Given the description of an element on the screen output the (x, y) to click on. 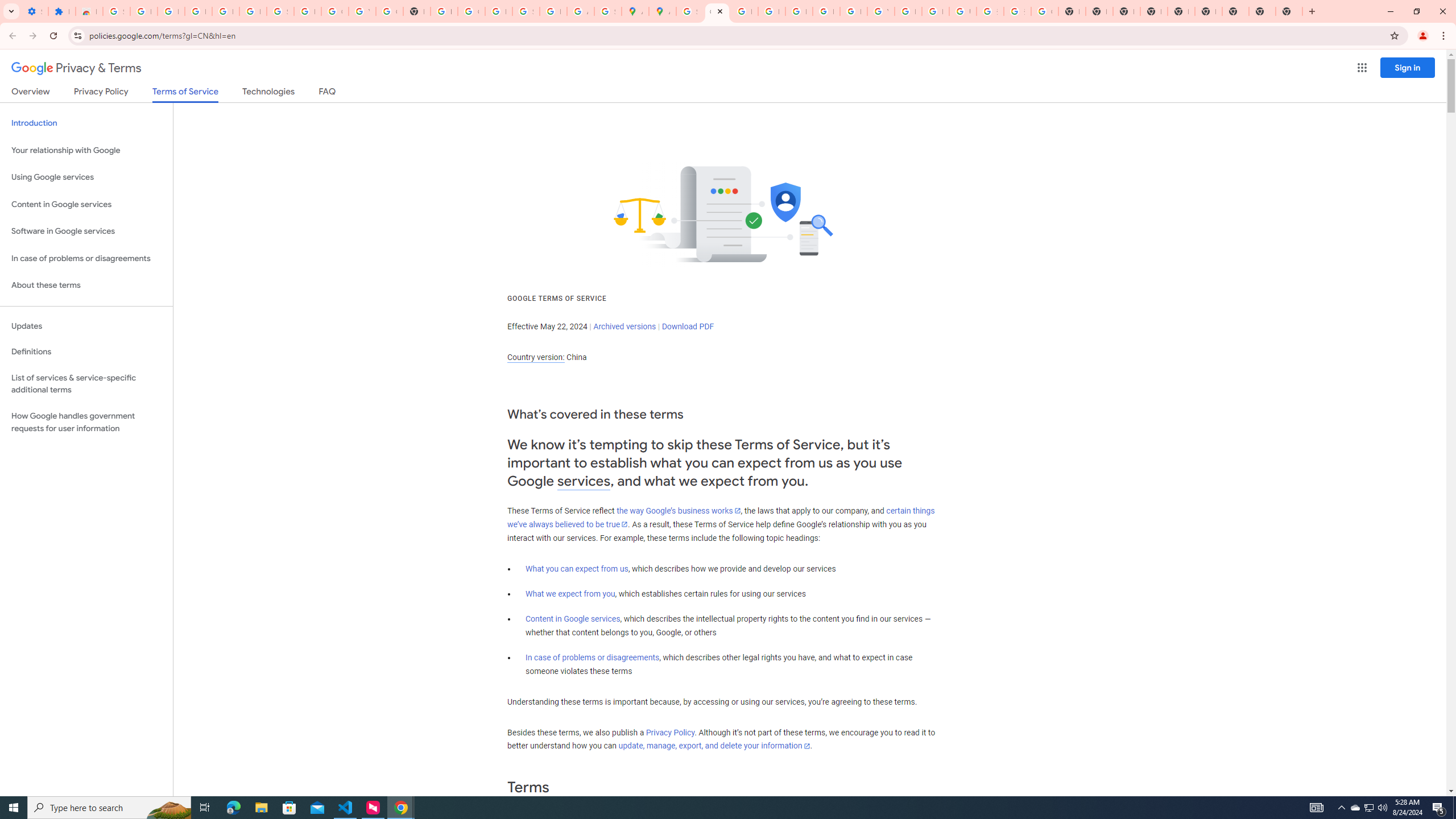
YouTube (880, 11)
New Tab (1289, 11)
Learn how to find your photos - Google Photos Help (225, 11)
Google Account (334, 11)
In case of problems or disagreements (592, 657)
What you can expect from us (576, 568)
